Given the description of an element on the screen output the (x, y) to click on. 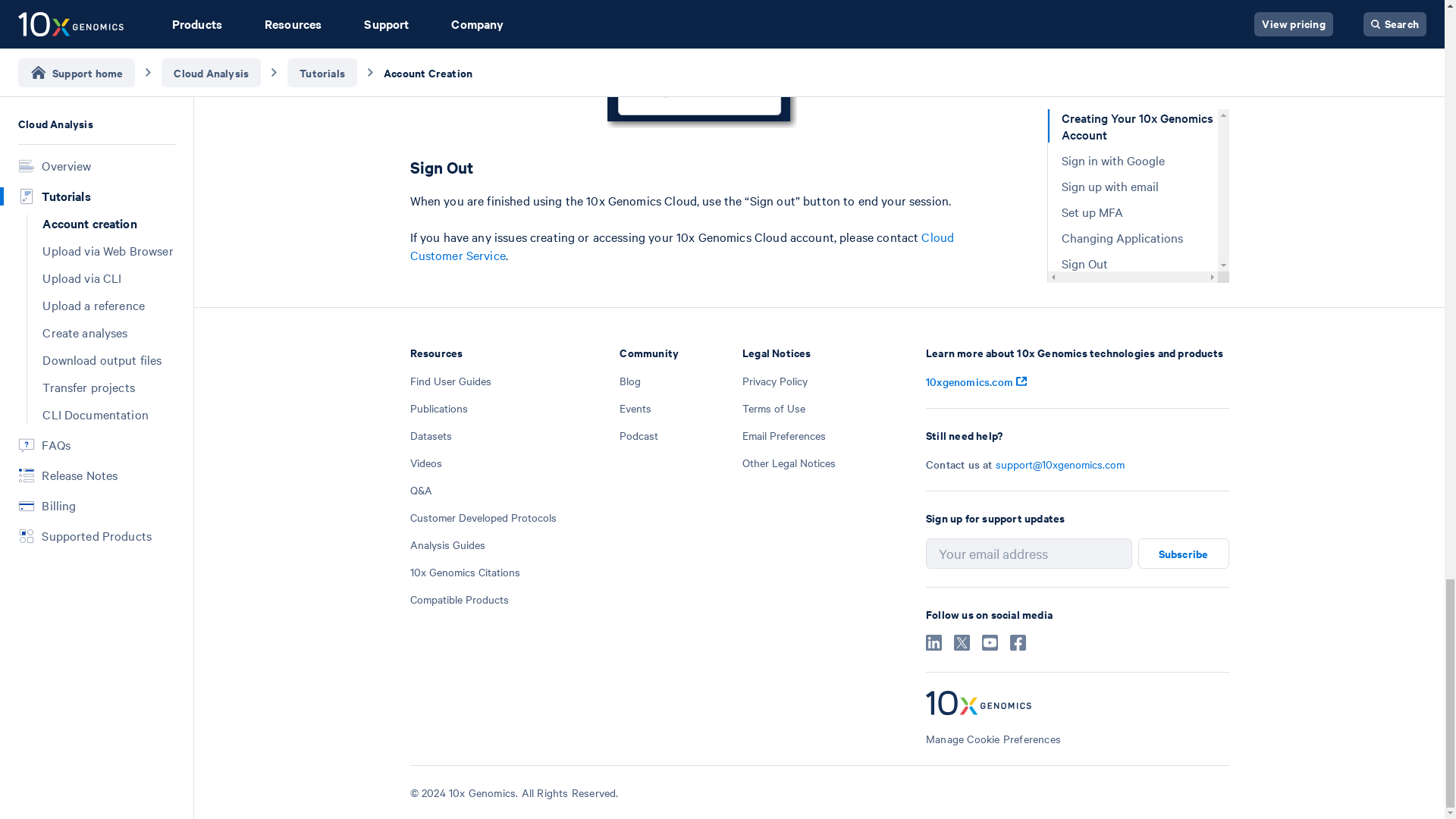
10x Genomics (1077, 704)
Facebook (1018, 645)
Sign Out (700, 167)
Twitter (961, 645)
Youtube (989, 645)
Cloud Customer Service (681, 245)
LinkedIn (934, 645)
